Given the description of an element on the screen output the (x, y) to click on. 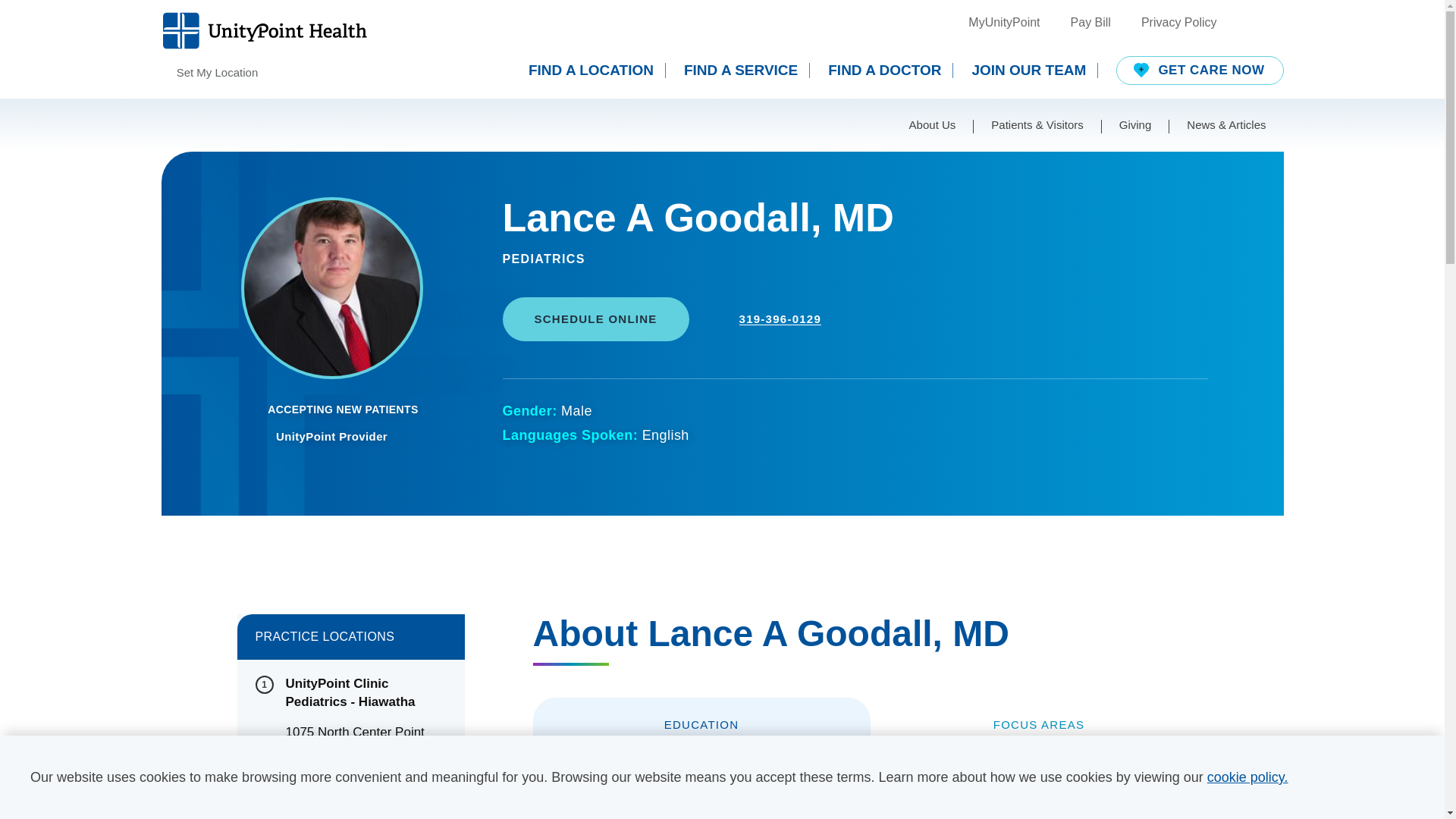
Pay Bill (1090, 22)
JOIN OUR TEAM (1034, 69)
About Us (932, 124)
cookie policy. (1247, 776)
1075 North Center Point Road Hiawatha, IA 52233 (365, 741)
FIND A SERVICE (746, 69)
FIND A LOCATION (596, 69)
SCHEDULE ONLINE (595, 319)
Privacy Policy (1179, 22)
EDUCATION (700, 724)
UnityPoint Clinic Pediatrics - Hiawatha (365, 692)
Set My Location (208, 72)
319-743-1440 (325, 781)
MyUnityPoint (1003, 22)
Giving (1135, 124)
